Given the description of an element on the screen output the (x, y) to click on. 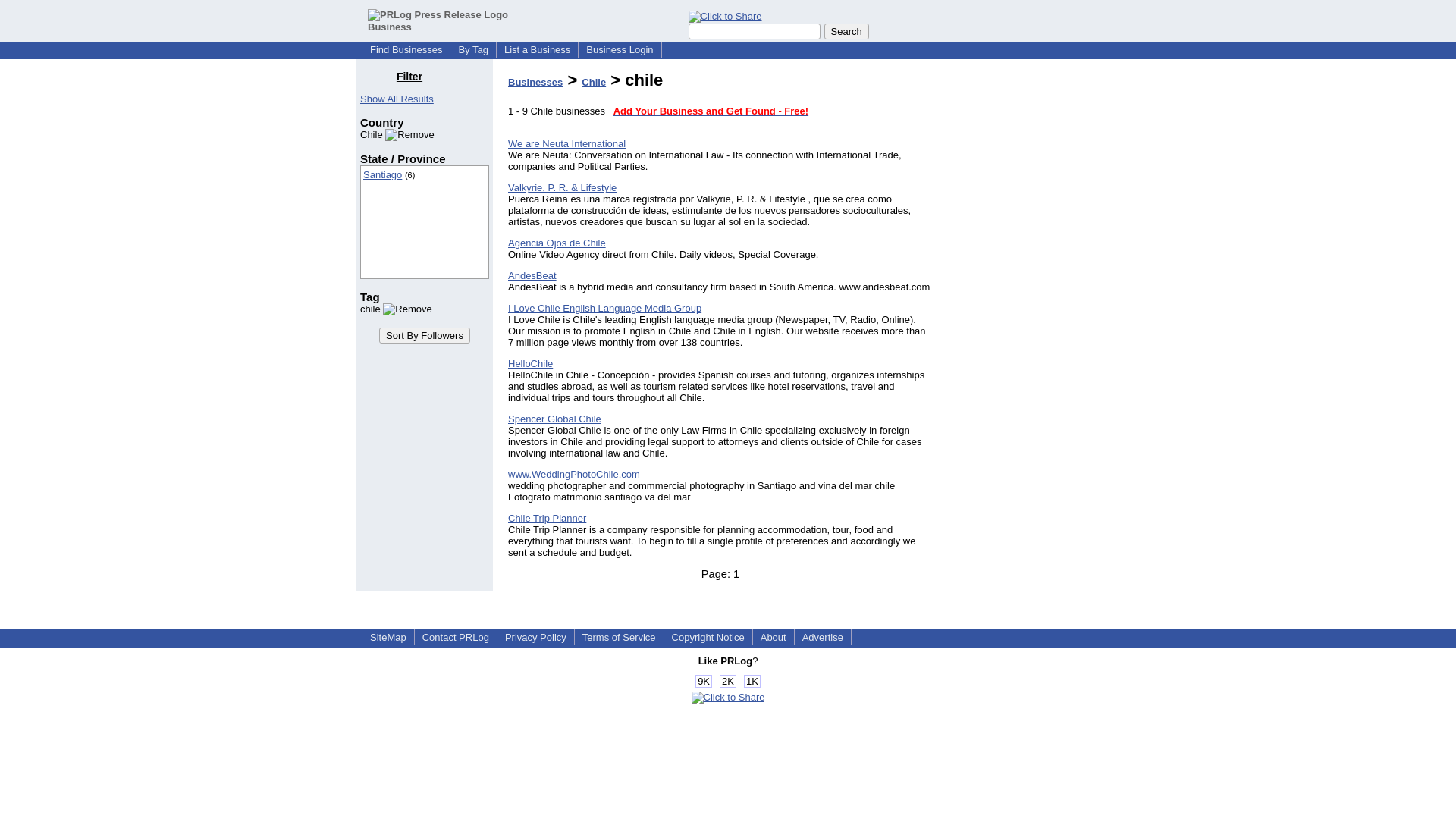
www.WeddingPhotoChile.com (574, 473)
SiteMap (388, 636)
Agencia Ojos de Chile (556, 242)
Search (846, 31)
I Love Chile English Language Media Group (604, 307)
Privacy Policy (535, 636)
Chile Trip Planner (547, 518)
Santiago (381, 174)
Click to remove this filter (395, 308)
Sort By Followers (424, 335)
